Given the description of an element on the screen output the (x, y) to click on. 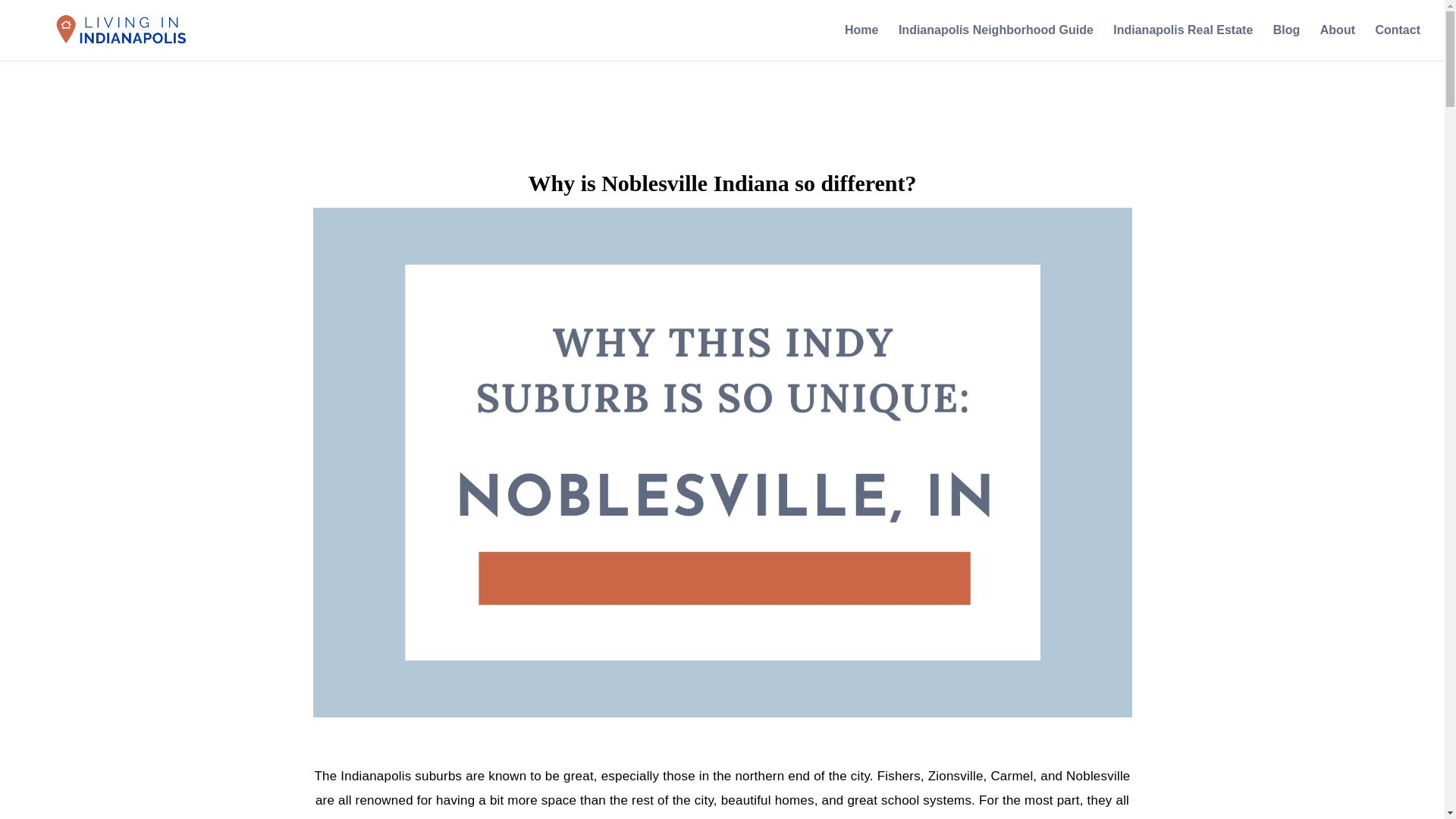
Contact (1397, 42)
Home (860, 42)
Indianapolis Neighborhood Guide (995, 42)
Indianapolis Real Estate (1182, 42)
About (1337, 42)
